Given the description of an element on the screen output the (x, y) to click on. 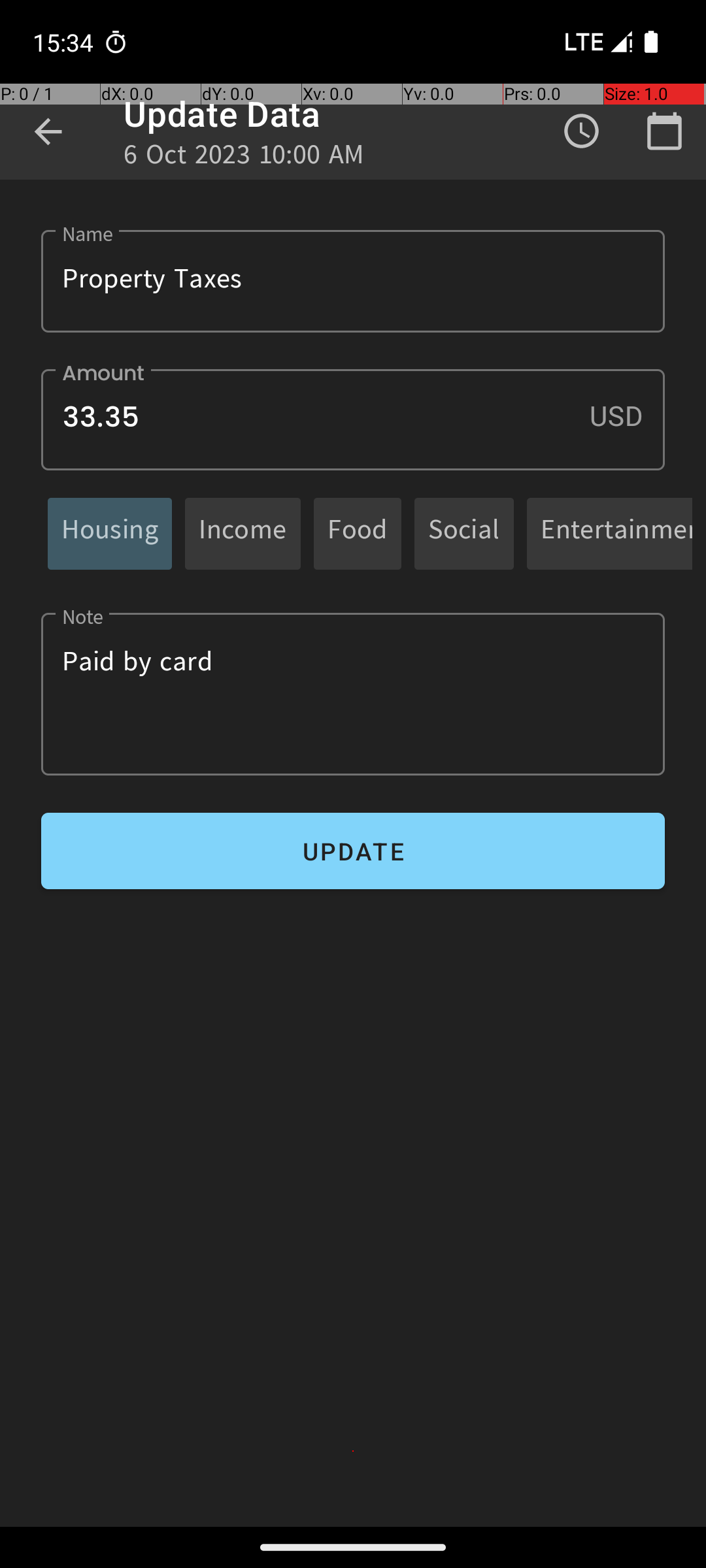
6 Oct 2023 10:00 AM Element type: android.widget.TextView (243, 157)
Property Taxes Element type: android.widget.EditText (352, 280)
33.35 Element type: android.widget.EditText (352, 419)
